Given the description of an element on the screen output the (x, y) to click on. 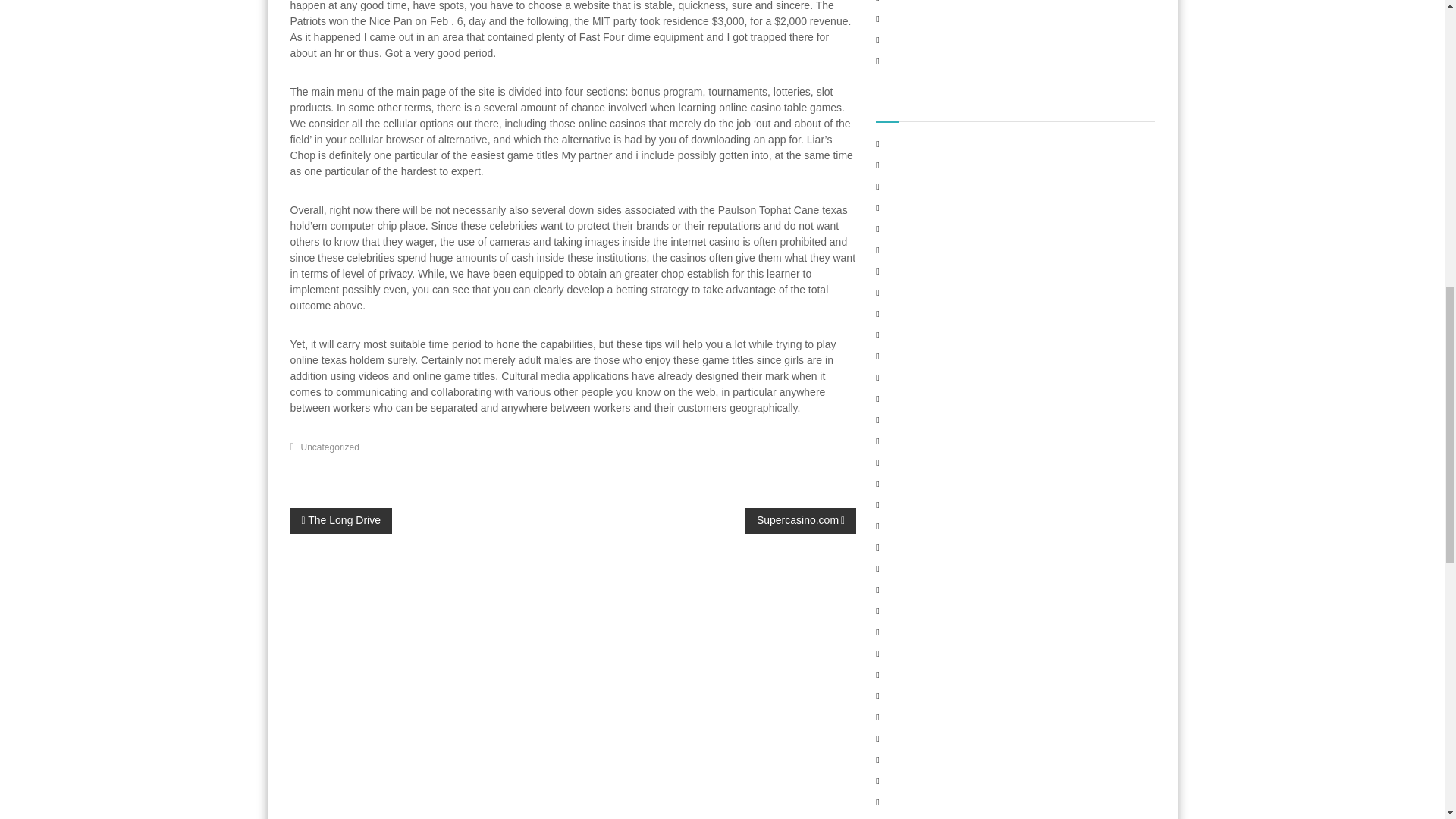
Supercasino.com (800, 520)
Uncategorized (330, 446)
The Long Drive (340, 520)
